Given the description of an element on the screen output the (x, y) to click on. 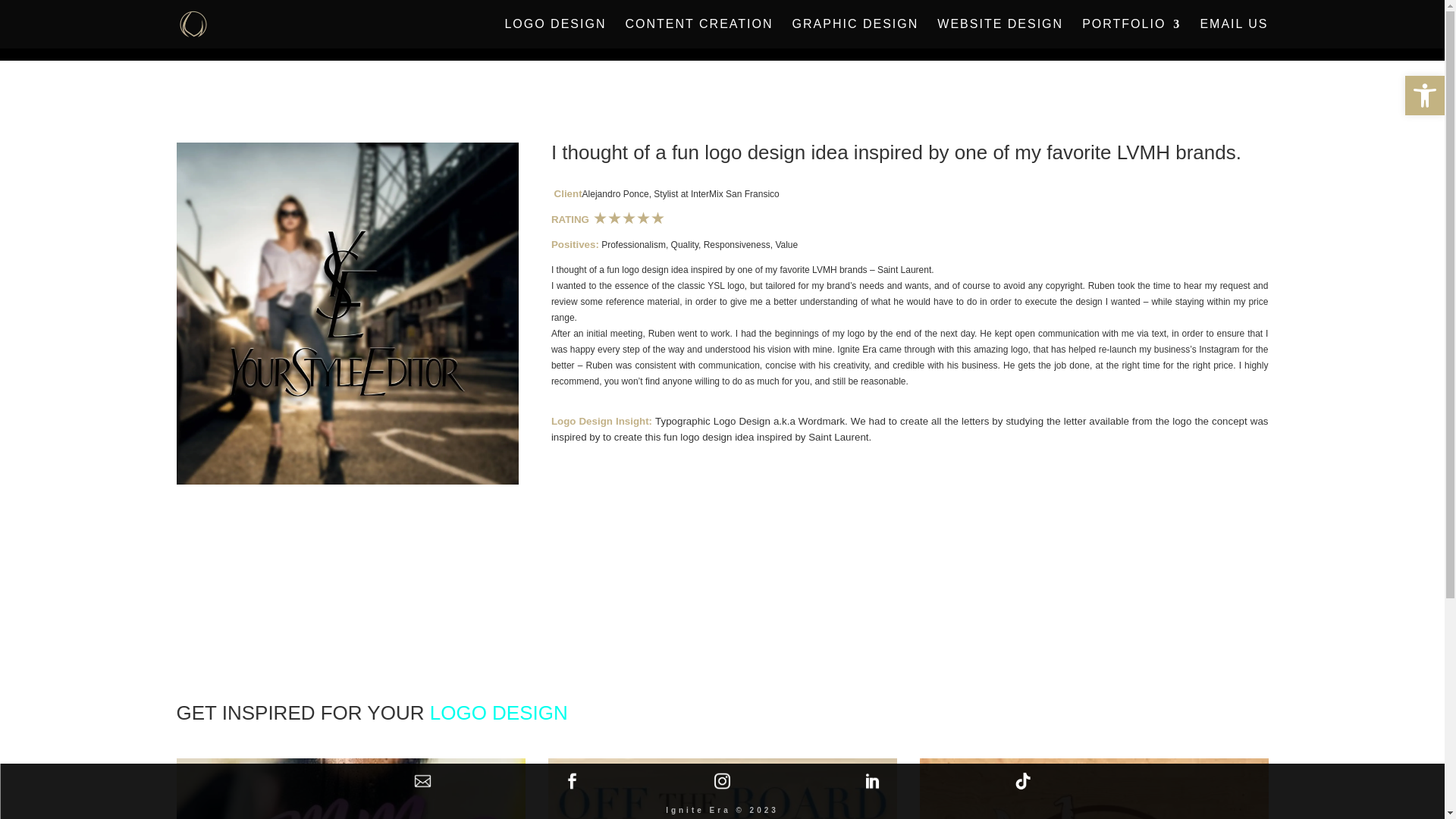
Accessibility Tools (1424, 95)
LOGO DESIGN (554, 33)
GRAPHIC DESIGN (855, 33)
WEBSITE DESIGN (999, 33)
PORTFOLIO (1130, 33)
EMAIL US (1233, 33)
CONTENT CREATION (699, 33)
your-style-editor-typographic-logo-featured (347, 313)
